Given the description of an element on the screen output the (x, y) to click on. 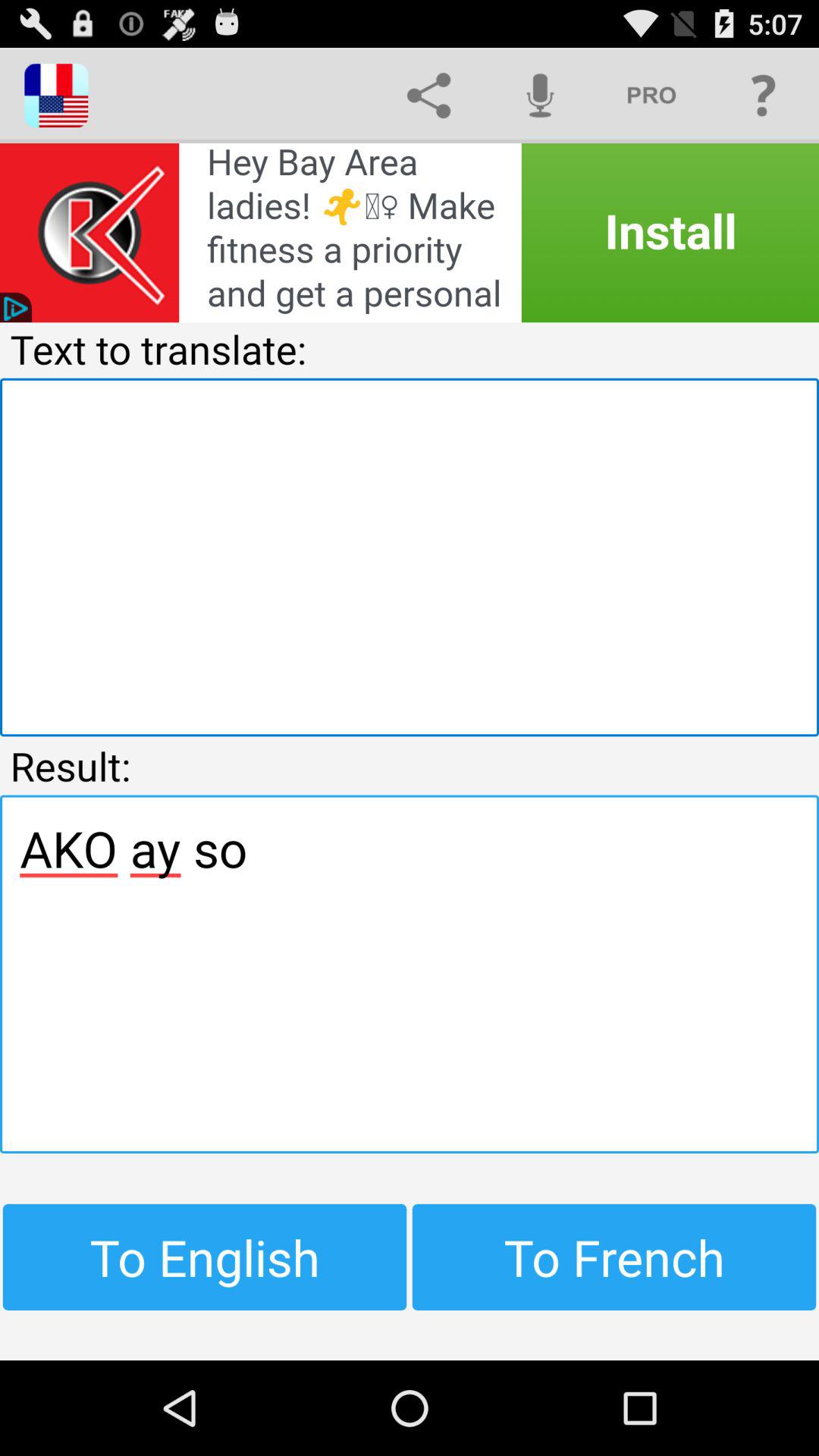
flip to the ako ay so (409, 974)
